Given the description of an element on the screen output the (x, y) to click on. 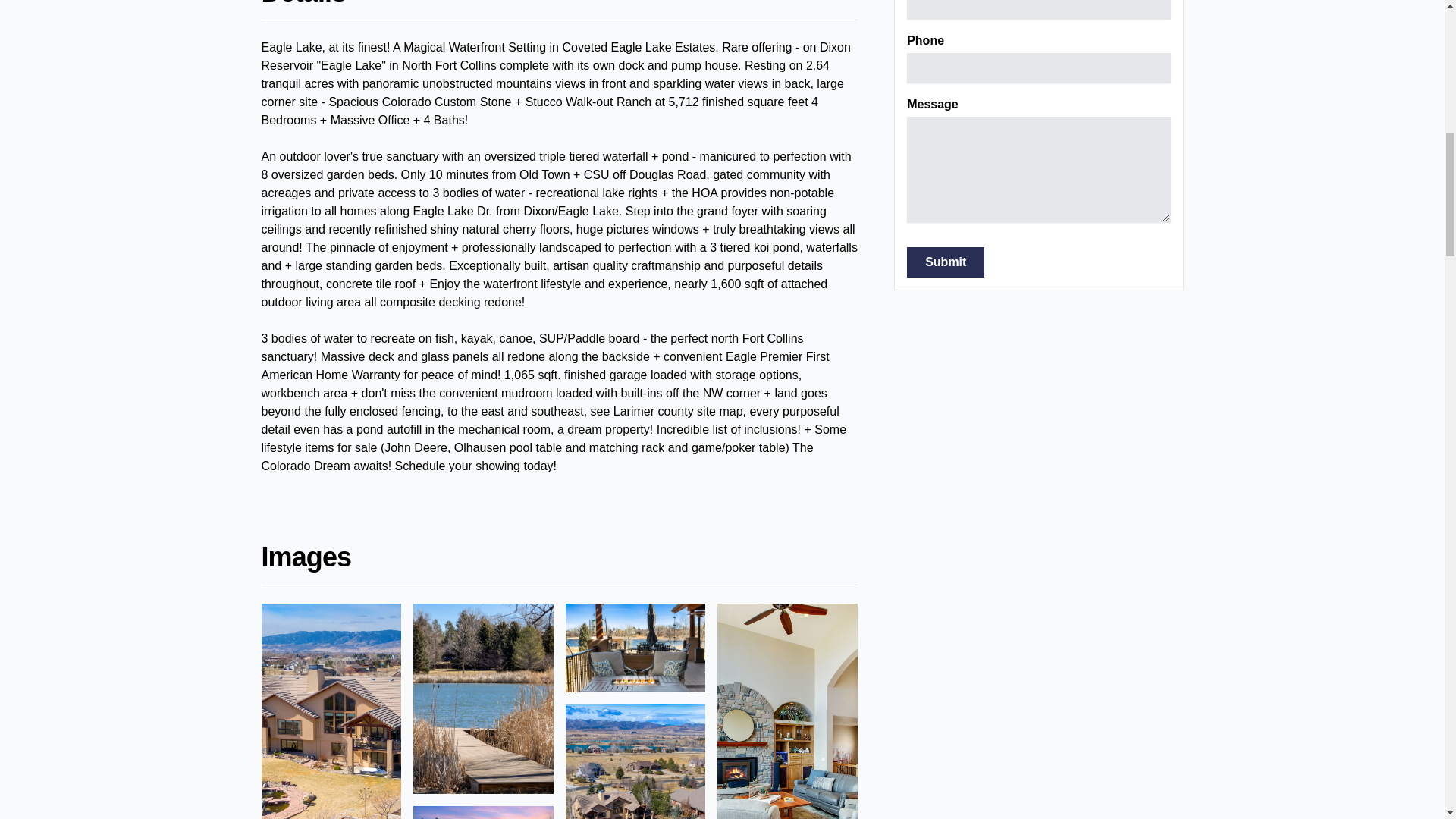
Submit (945, 262)
